Given the description of an element on the screen output the (x, y) to click on. 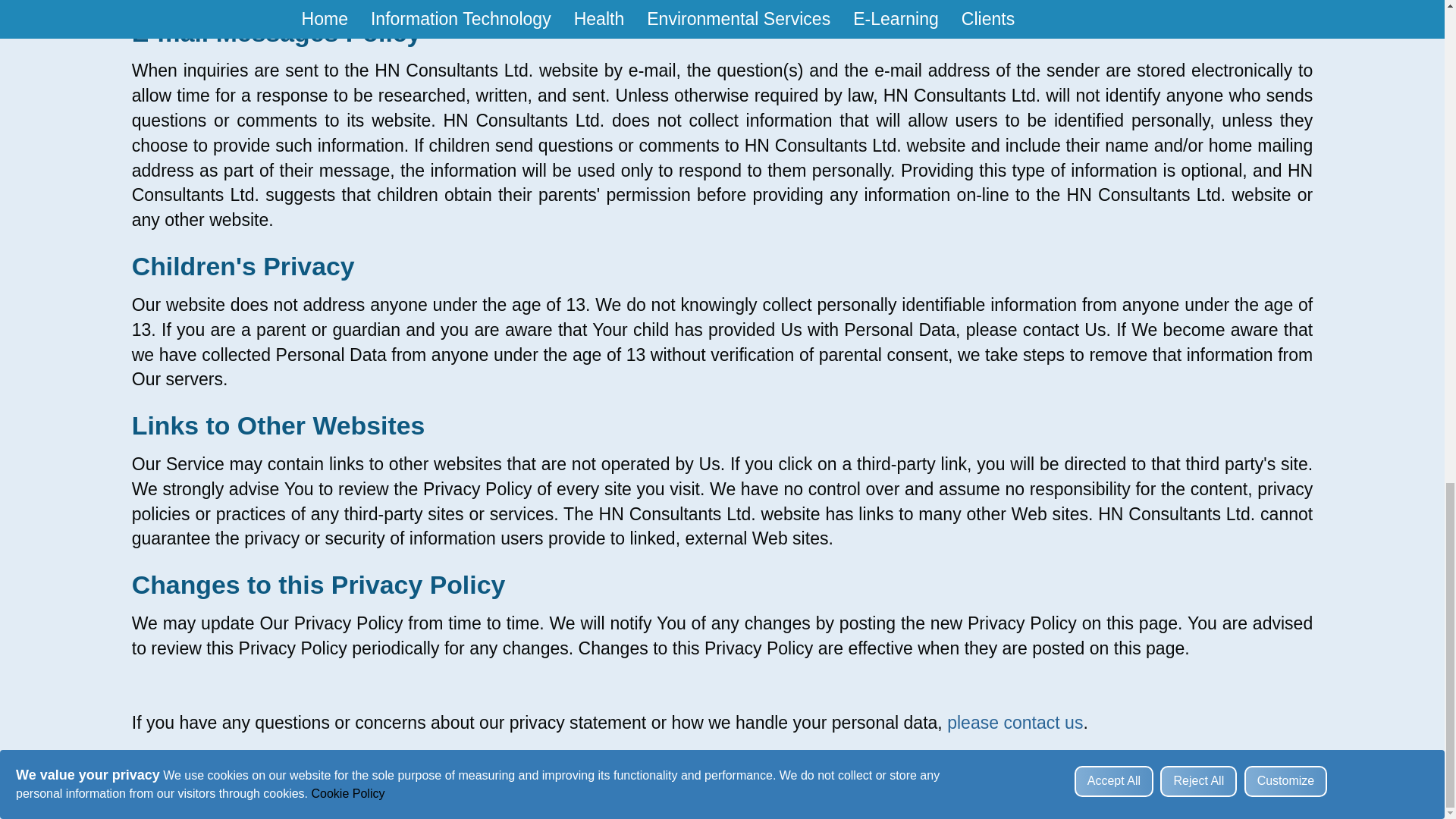
Contact Us (662, 779)
Privacy (795, 810)
please contact us (1015, 722)
